Given the description of an element on the screen output the (x, y) to click on. 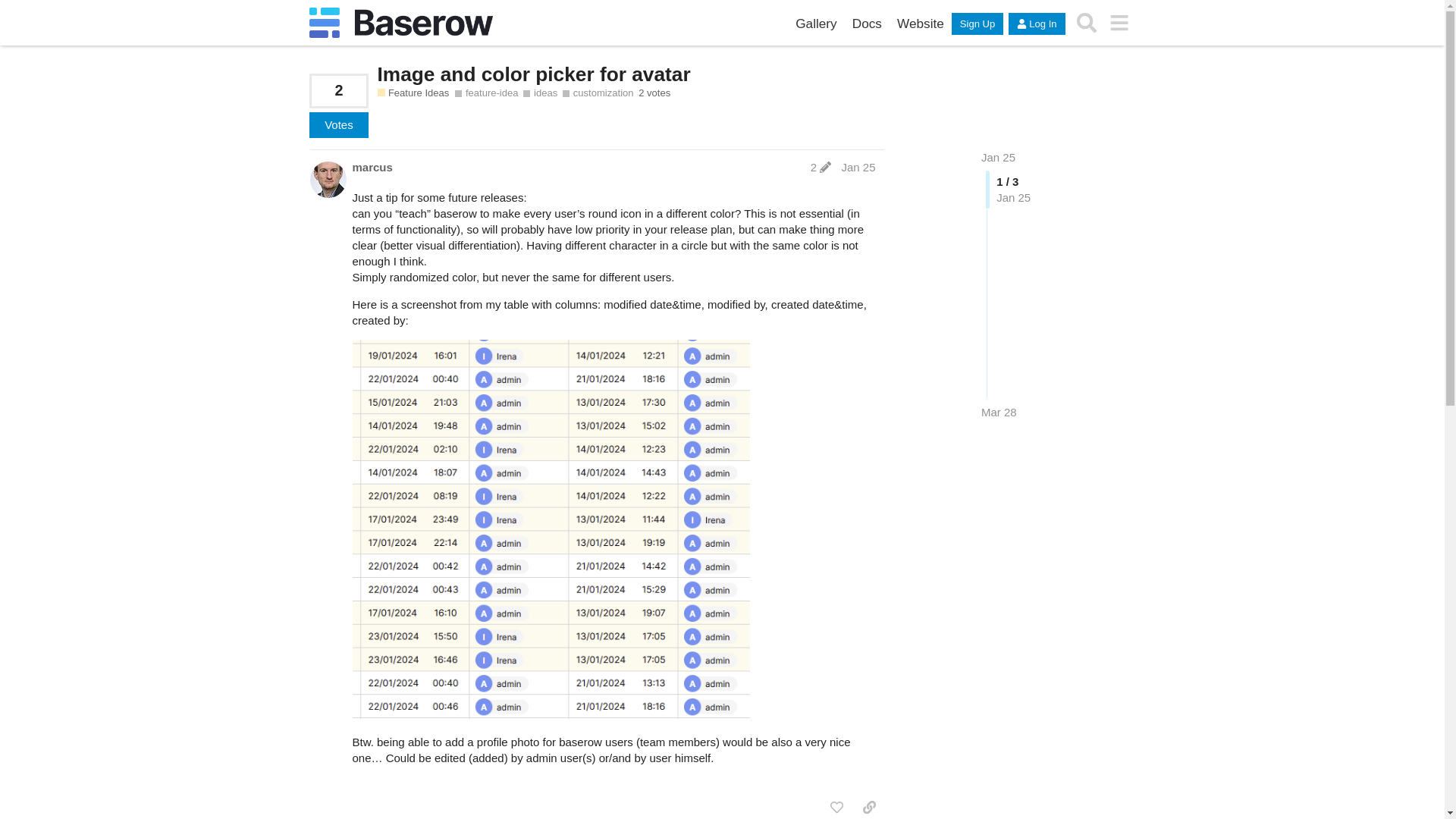
Search (1086, 22)
The Baserow website (920, 23)
Mar 28 (998, 412)
Post date (858, 166)
Log In (1036, 24)
ideas (539, 92)
Jan 25 (858, 166)
menu (1119, 22)
2 votes (654, 92)
Sign Up (977, 24)
customization (597, 92)
post last edited on Mar 28, 2024 9:35 pm (820, 166)
The User Documentation (866, 23)
Website (920, 23)
Gallery (815, 23)
